Given the description of an element on the screen output the (x, y) to click on. 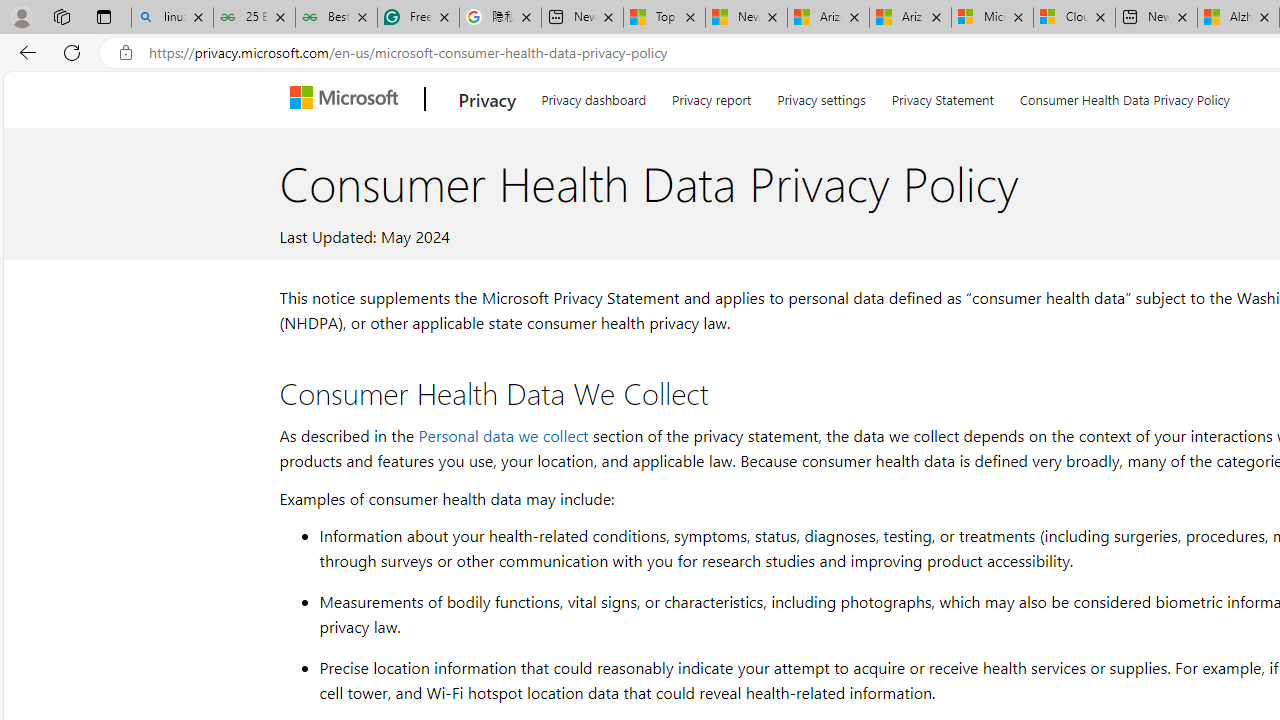
Consumer Health Data Privacy Policy (1124, 96)
News - MSN (746, 17)
linux basic - Search (171, 17)
Privacy dashboard (593, 96)
Privacy Statement (942, 96)
Privacy report (712, 96)
Privacy settings (821, 96)
